Given the description of an element on the screen output the (x, y) to click on. 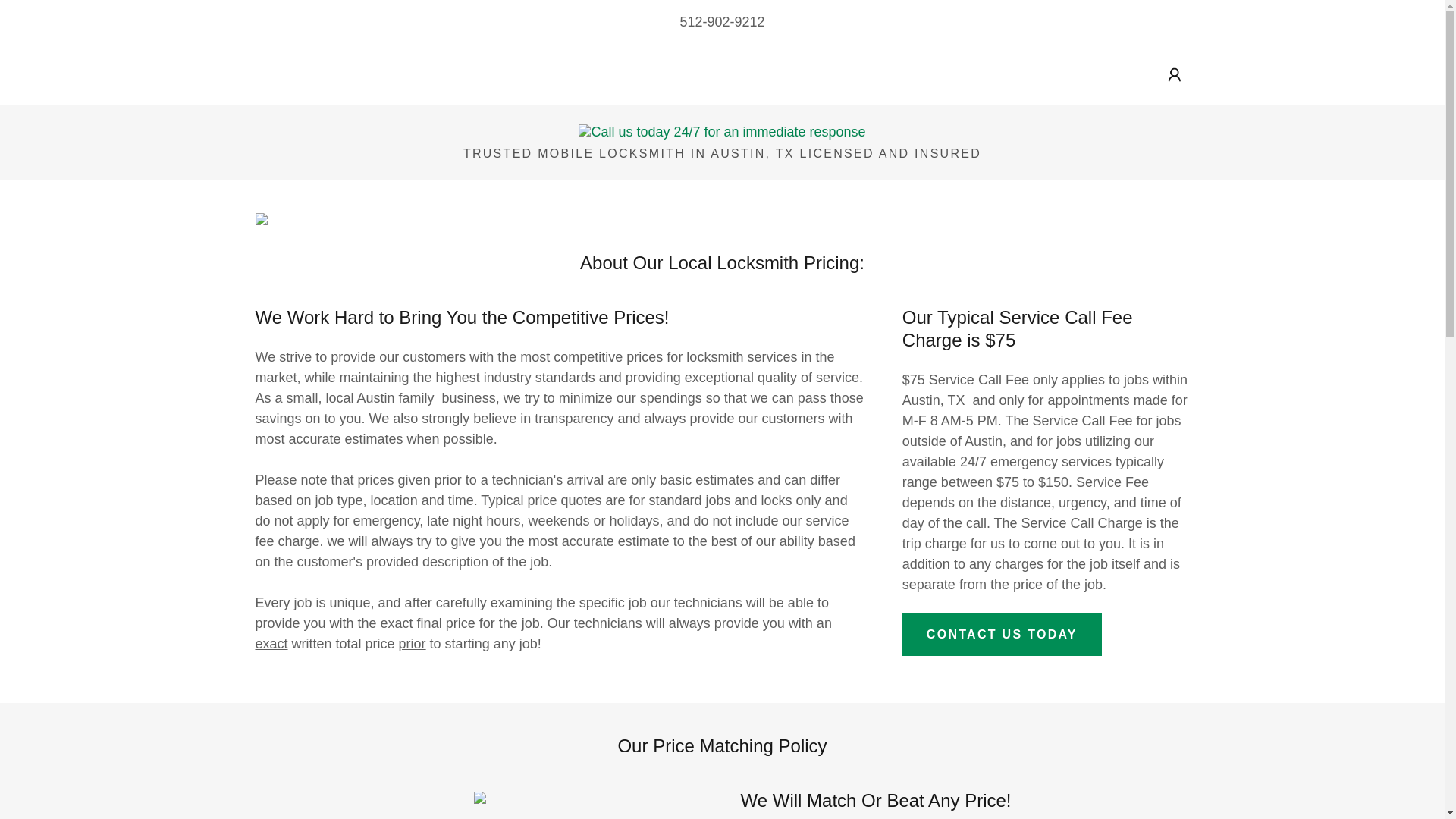
512-902-9212 (721, 21)
